Given the description of an element on the screen output the (x, y) to click on. 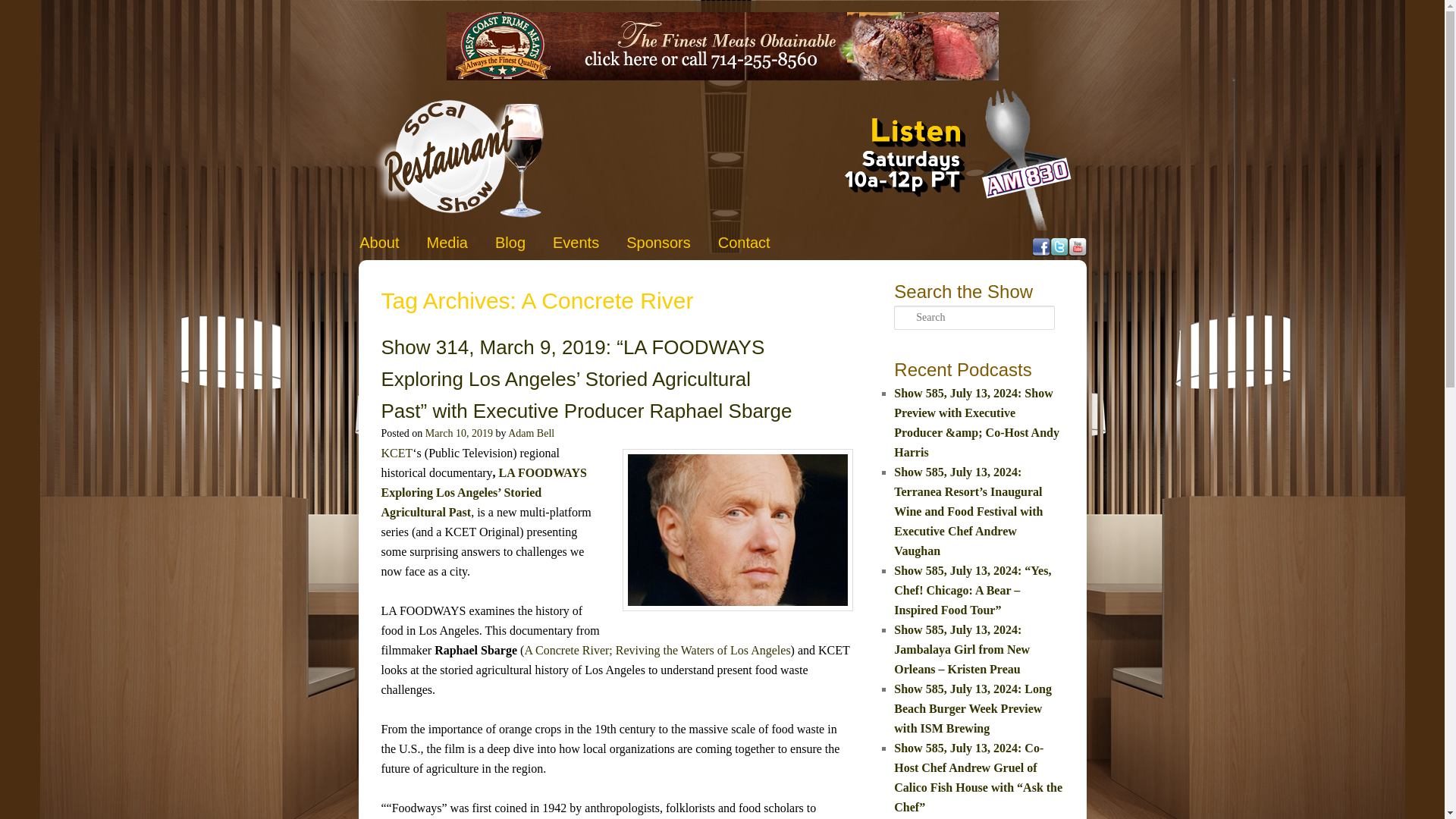
KCET (396, 452)
Blog (509, 242)
SoCal Restaurant Show Blog (509, 242)
Sponsors (658, 242)
About (379, 242)
SoCal Restaurant Show (457, 158)
Sponsors (658, 242)
Listen each Saturday from 10:30am to 12:00pm on AM 830 KLAA (928, 158)
YouTube (1076, 247)
Media Gallery (447, 242)
Facebook (1039, 247)
Adam Bell (531, 432)
Media (447, 242)
